Given the description of an element on the screen output the (x, y) to click on. 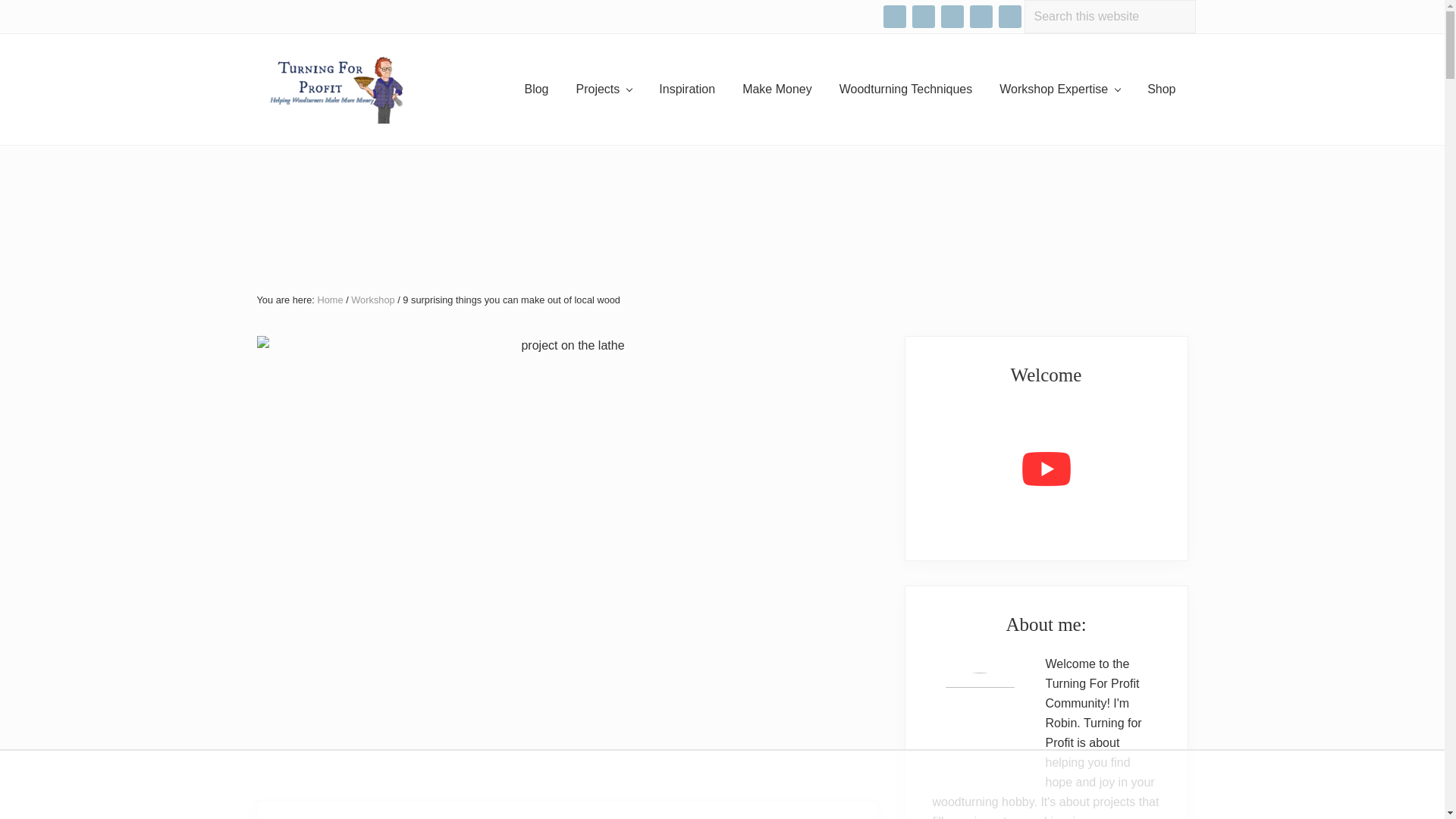
Make Money (777, 89)
Twitter (1009, 16)
Shop (1161, 89)
Blog (536, 89)
Home (329, 299)
Workshop Expertise (1059, 89)
Woodturning Techniques (906, 89)
Facebook (893, 16)
Instagram (922, 15)
